Given the description of an element on the screen output the (x, y) to click on. 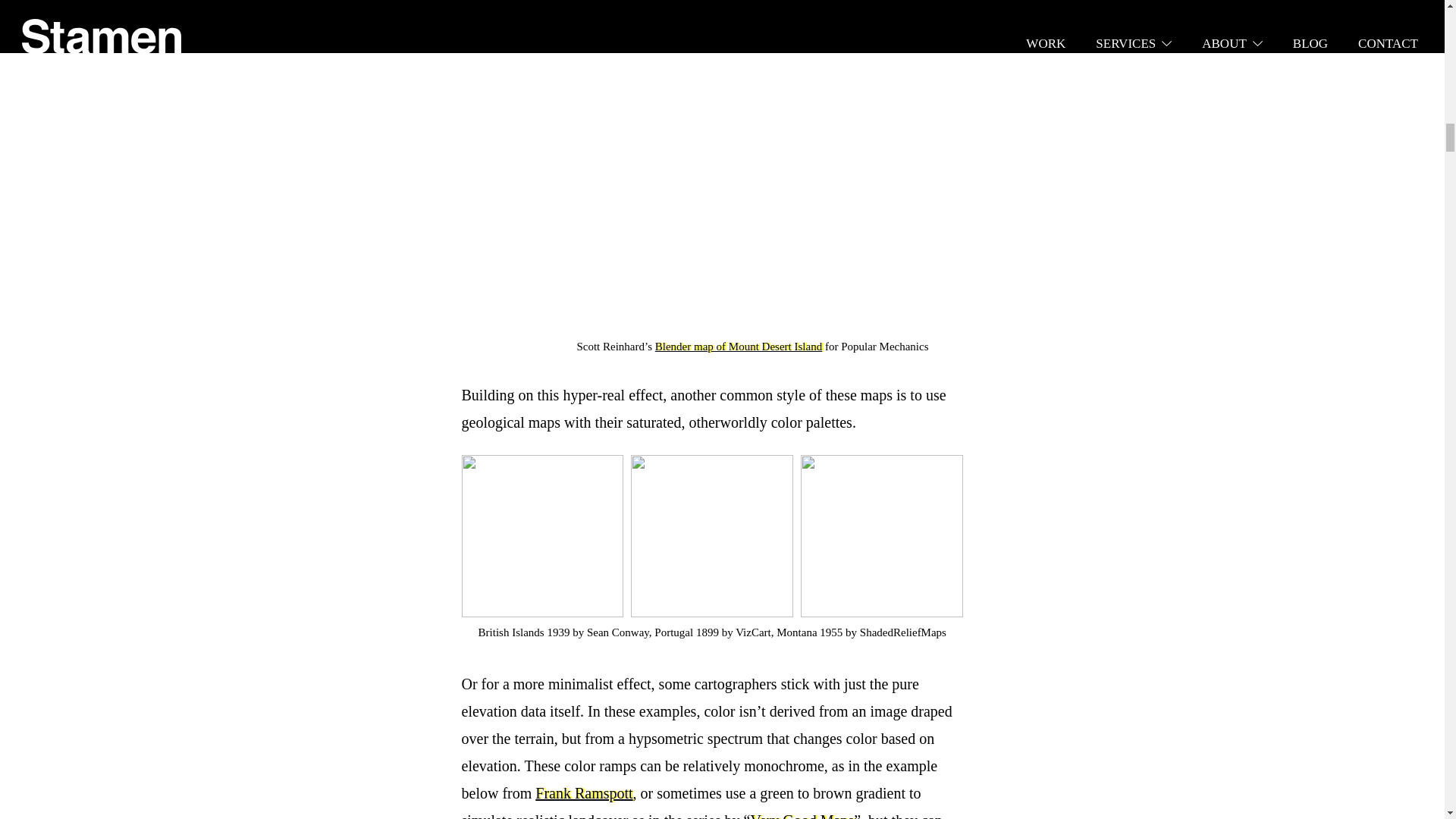
Frank Ramspott (583, 792)
Very Good Maps (801, 815)
Blender map of Mount Desert Island (738, 346)
British Islands 1939 (524, 632)
Portugal 1899 (686, 632)
Montana 1955 (809, 632)
